Given the description of an element on the screen output the (x, y) to click on. 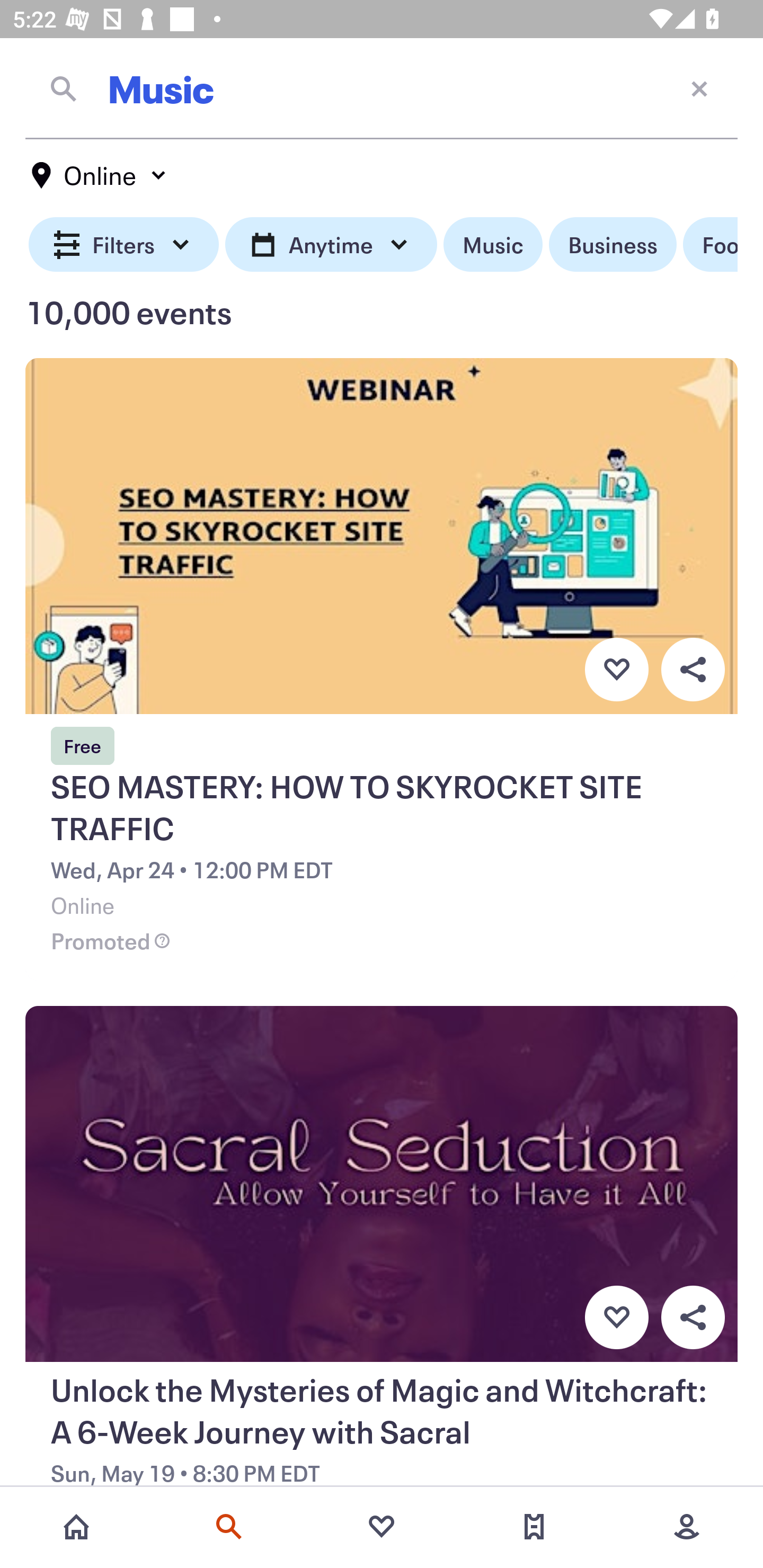
Music Close current screen (381, 88)
Close current screen (699, 88)
Online (99, 175)
Filters (123, 244)
Anytime (331, 244)
Music (492, 244)
Business (612, 244)
Favorite button (616, 669)
Overflow menu button (692, 669)
Favorite button (616, 1317)
Overflow menu button (692, 1317)
Home (76, 1526)
Search events (228, 1526)
Favorites (381, 1526)
Tickets (533, 1526)
More (686, 1526)
